Given the description of an element on the screen output the (x, y) to click on. 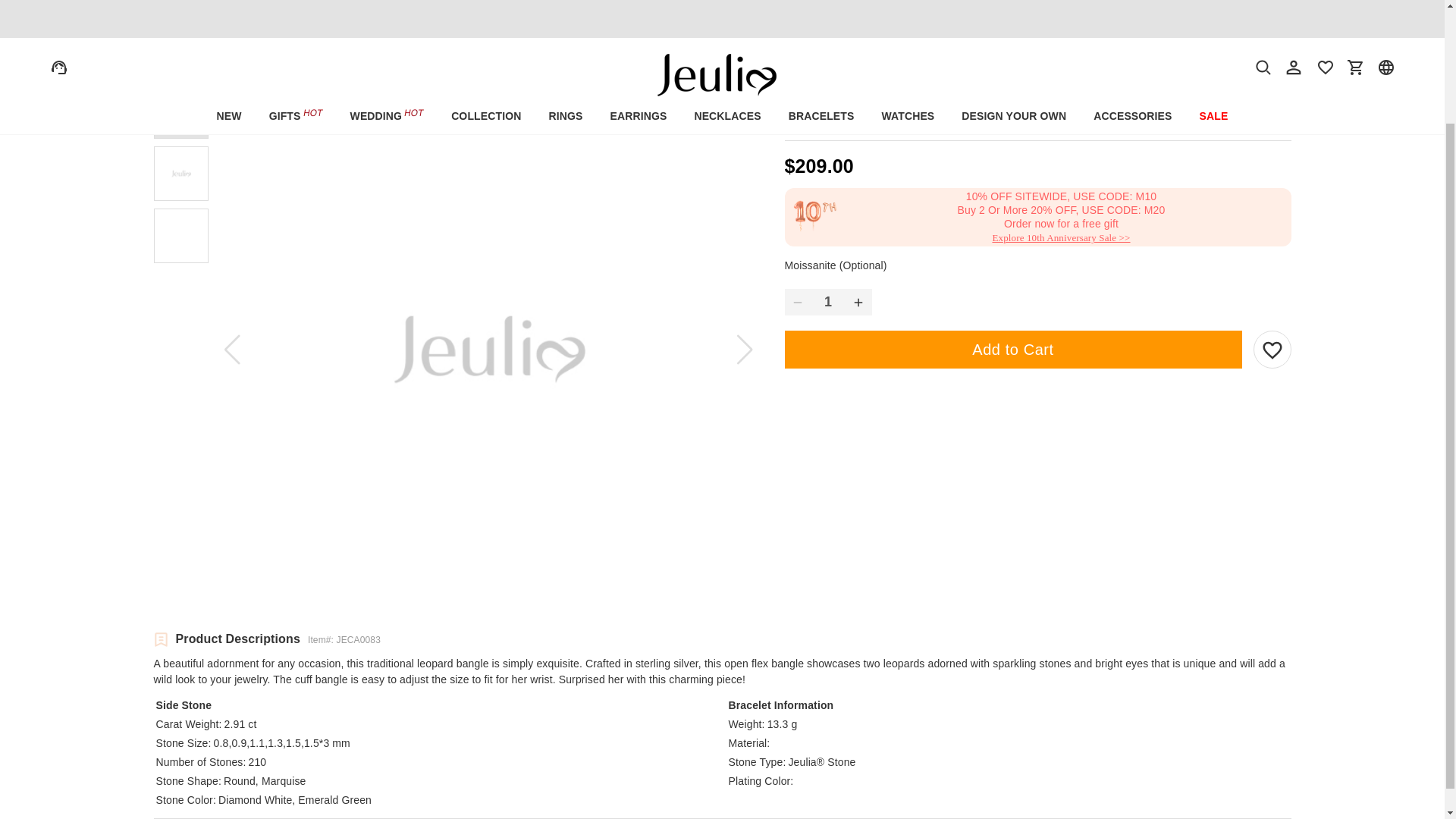
Home (163, 66)
Bangle Bracelets (274, 66)
Bracelets (209, 66)
Write a review (1256, 128)
Add to Cart (1012, 349)
1 (827, 302)
